Given the description of an element on the screen output the (x, y) to click on. 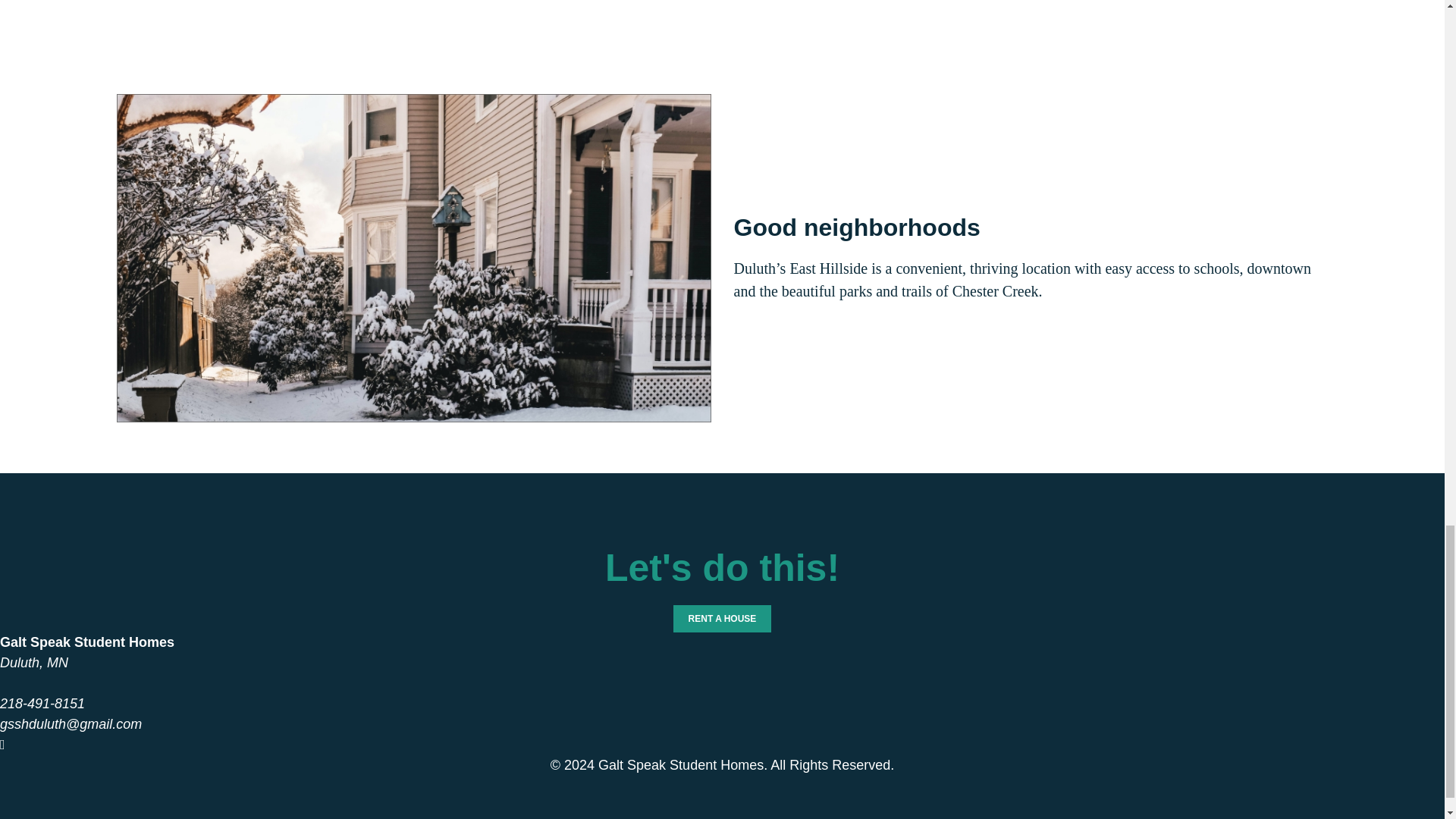
RENT A HOUSE (721, 618)
218-491-8151 (42, 703)
